Given the description of an element on the screen output the (x, y) to click on. 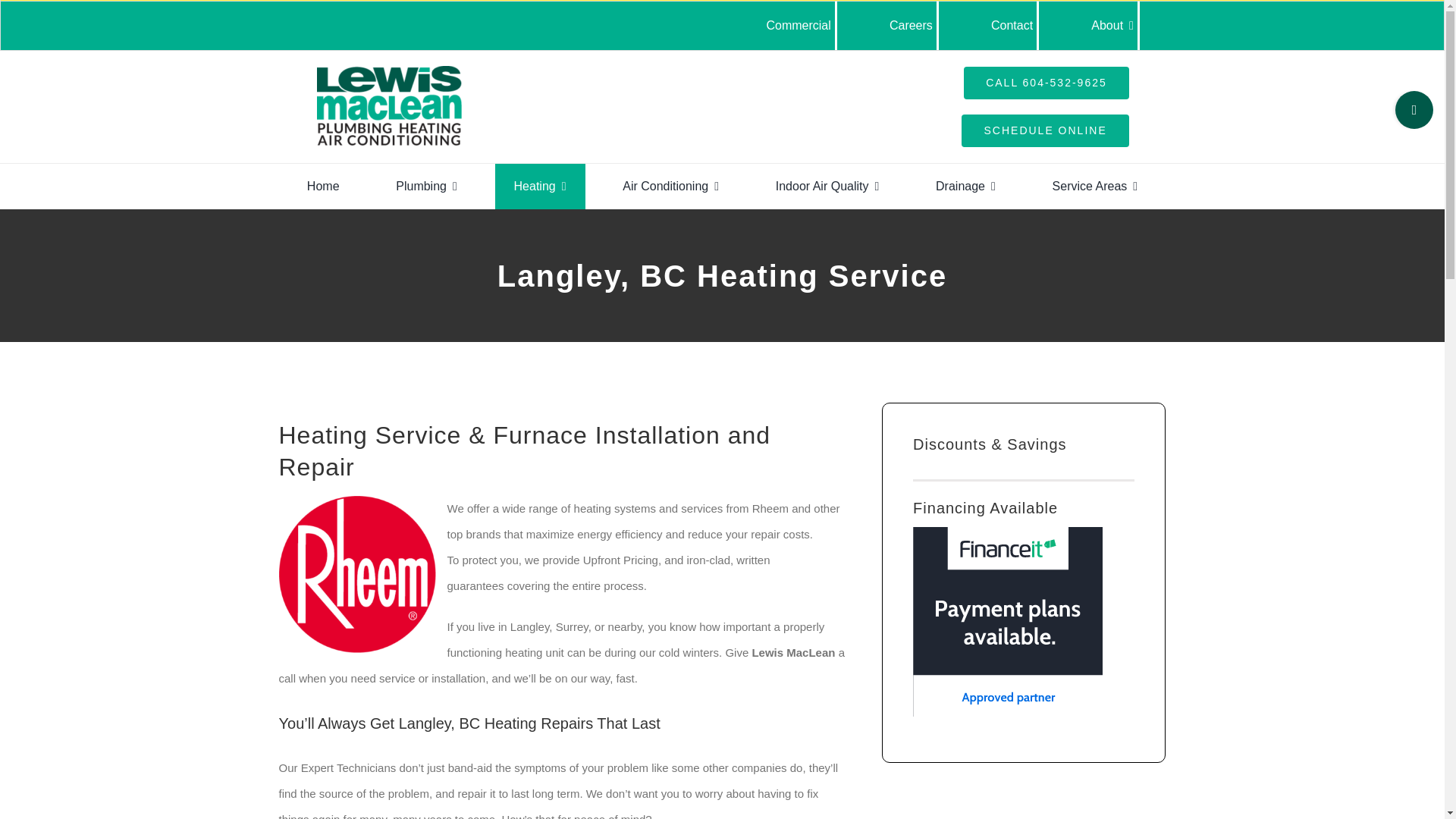
About (1115, 25)
SCHEDULE ONLINE (1044, 130)
Home (323, 186)
Heating (540, 186)
Careers (914, 25)
Contact (1015, 25)
Commercial (800, 25)
Plumbing (426, 186)
CALL 604-532-9625 (1046, 82)
